Given the description of an element on the screen output the (x, y) to click on. 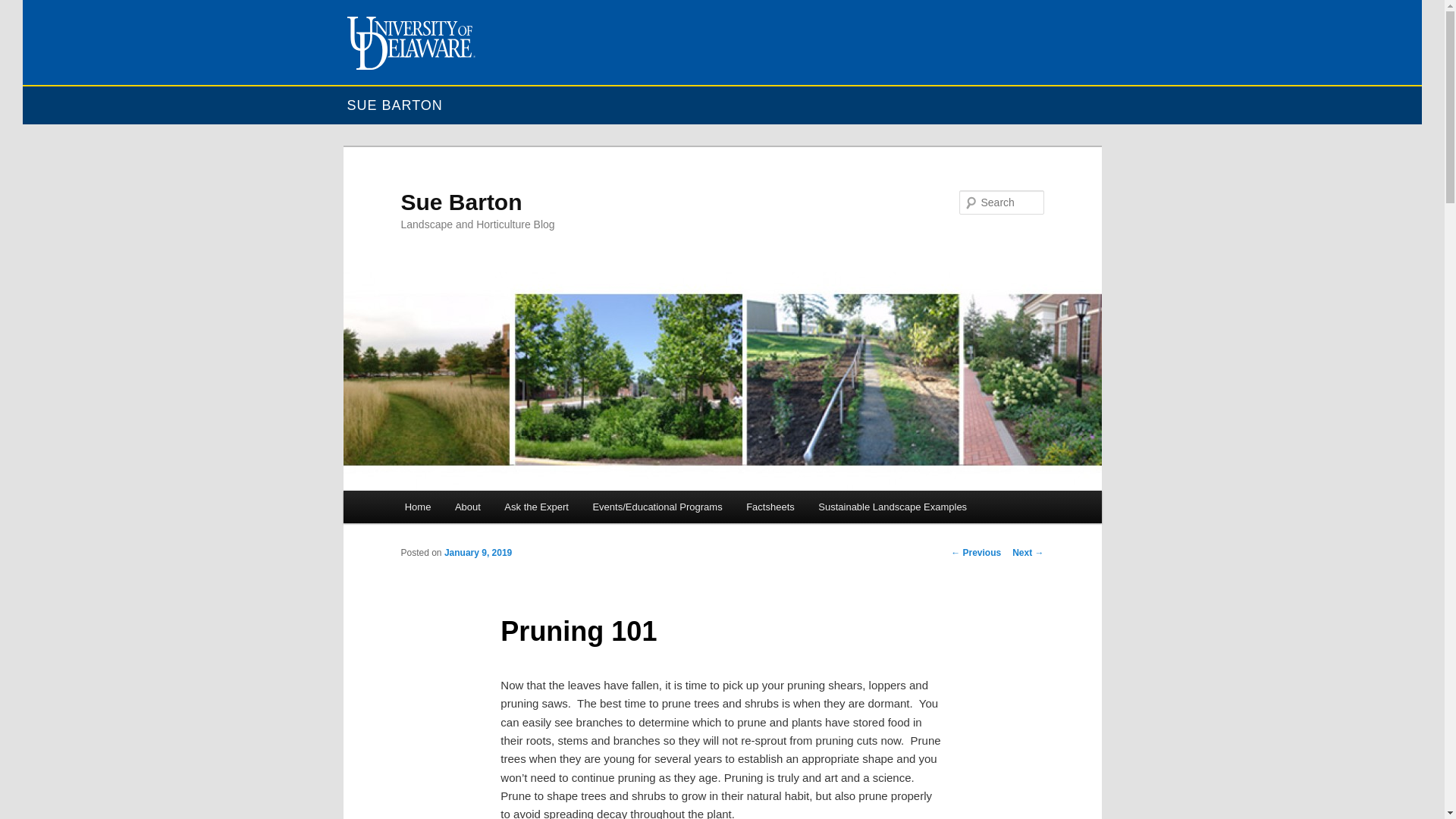
Ask the Expert (536, 506)
Factsheets (769, 506)
Sustainable Landscape Examples (892, 506)
SUE BARTON (394, 106)
January 9, 2019 (478, 552)
9:07 am (478, 552)
Search (24, 8)
Sue Barton (460, 201)
About (467, 506)
